Given the description of an element on the screen output the (x, y) to click on. 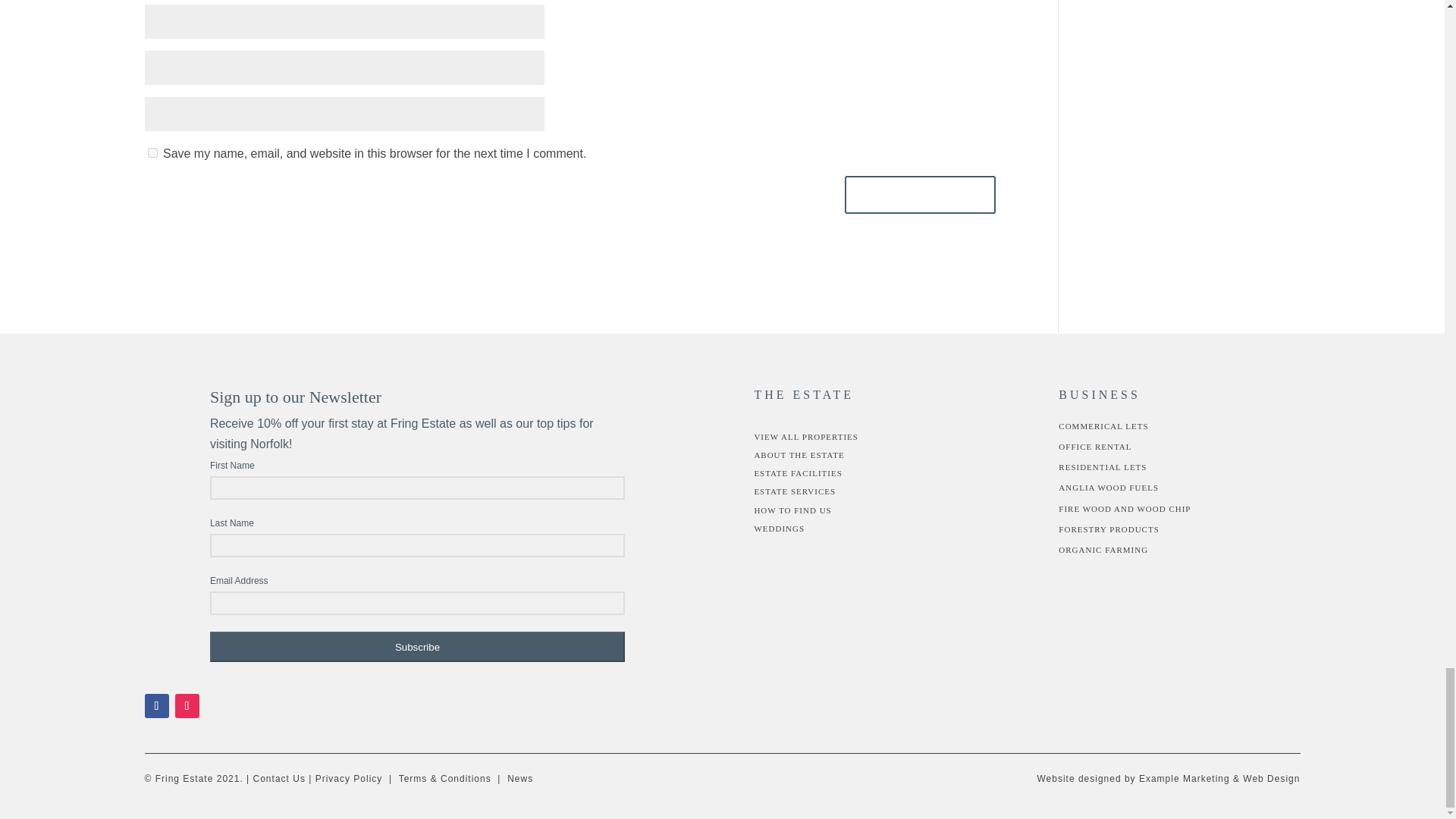
Submit Comment (919, 194)
Follow on Instagram (186, 705)
Follow on Facebook (156, 705)
yes (152, 153)
